Given the description of an element on the screen output the (x, y) to click on. 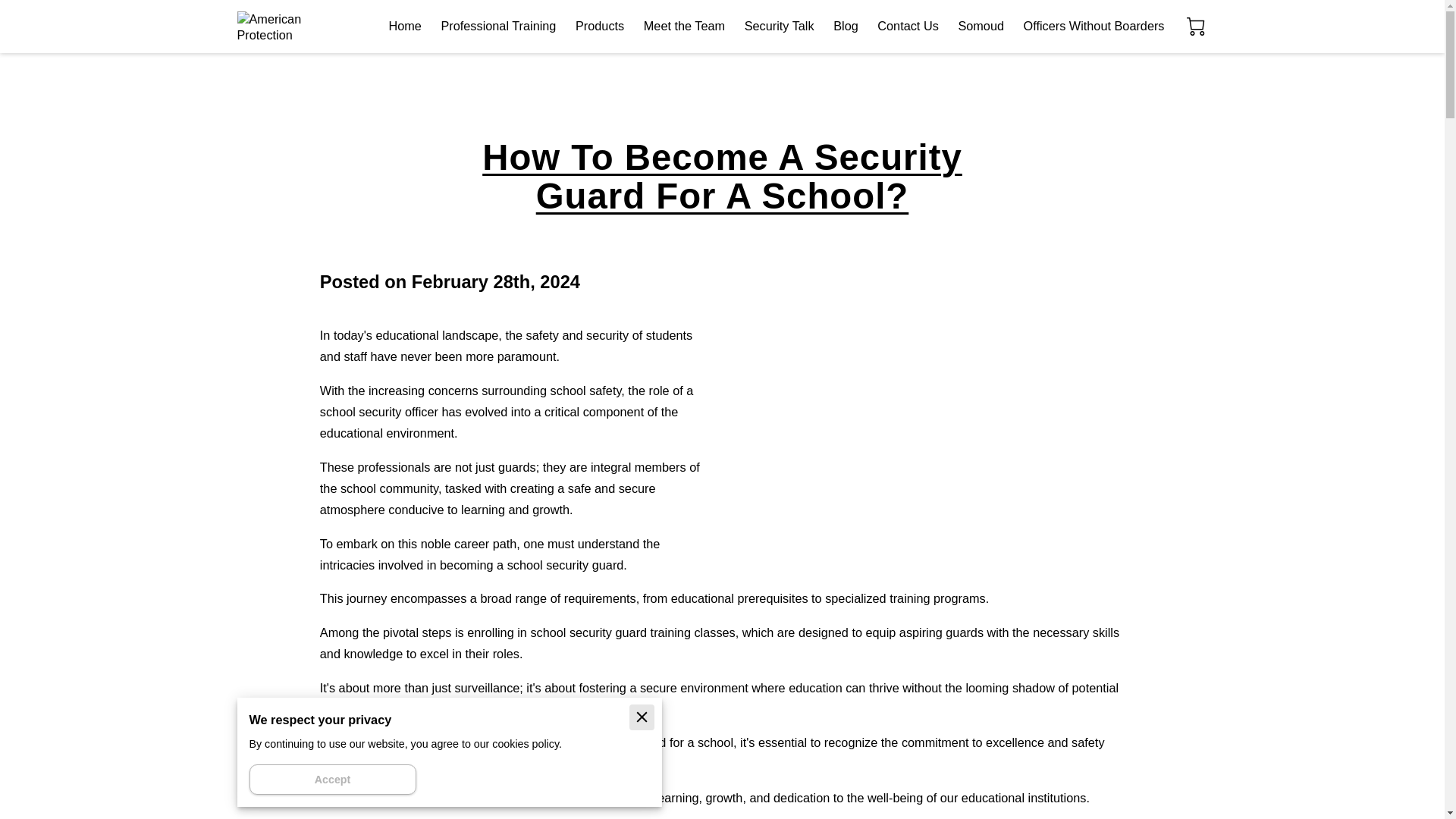
Accept (331, 779)
Officers Without Boarders (1093, 26)
Contact Us (907, 26)
Meet the Team (684, 26)
Blog (845, 26)
Security Talk (778, 26)
0 (1195, 26)
Products (599, 26)
Professional Training (498, 26)
Home (404, 26)
Somoud (981, 26)
